Given the description of an element on the screen output the (x, y) to click on. 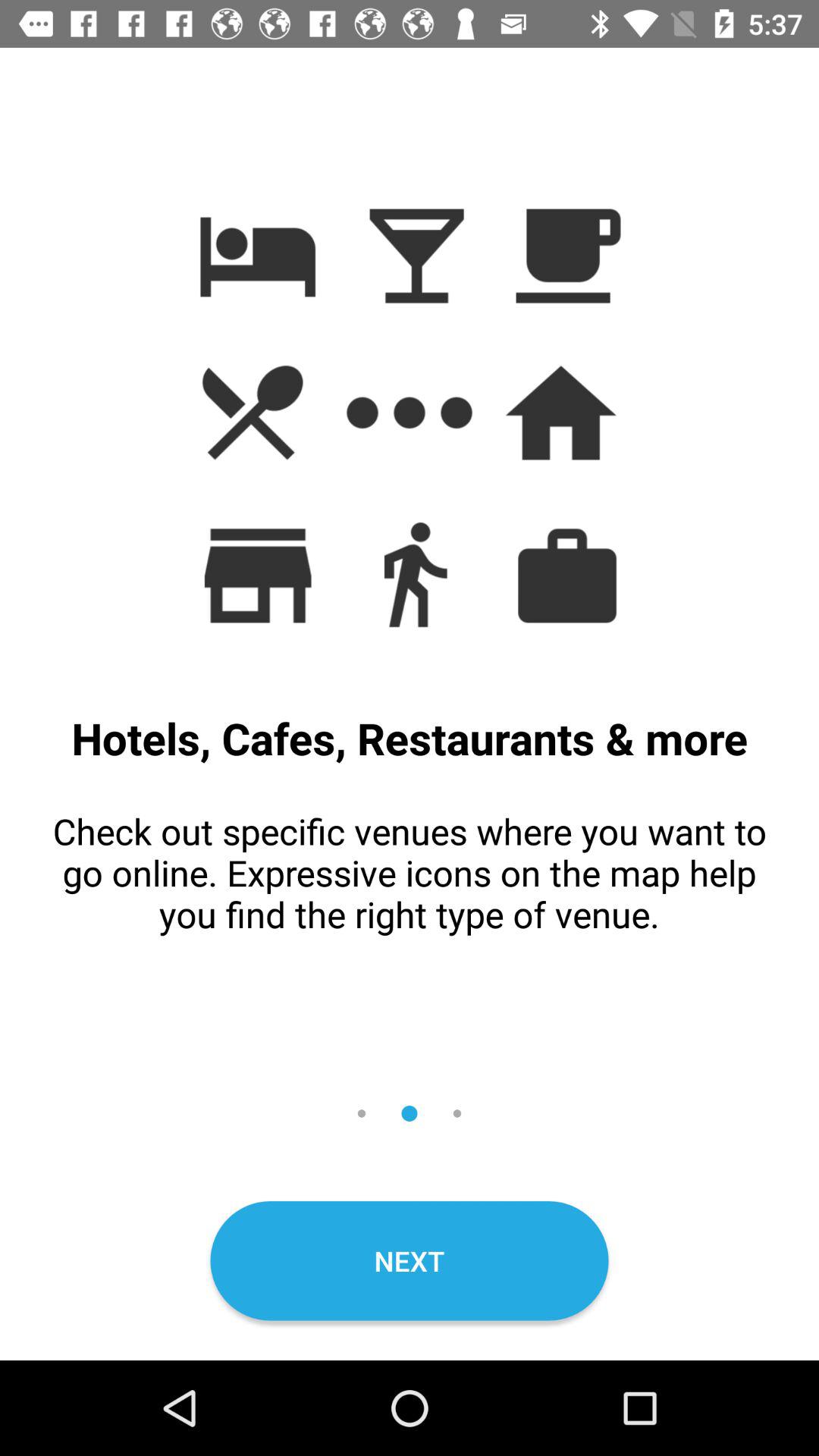
launch next icon (409, 1260)
